Given the description of an element on the screen output the (x, y) to click on. 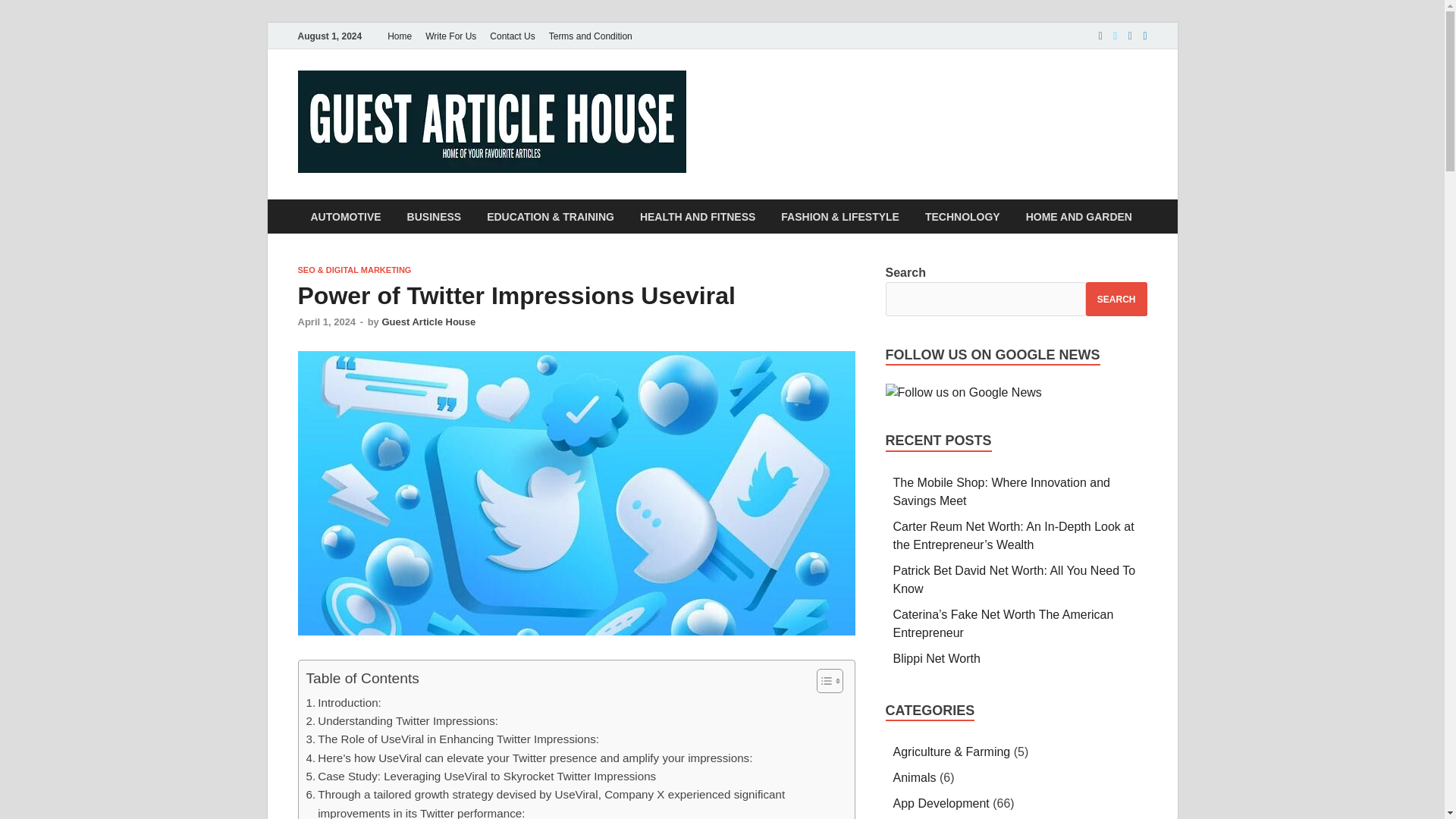
BUSINESS (434, 216)
The Role of UseViral in Enhancing Twitter Impressions: (452, 739)
Introduction: (343, 702)
Understanding Twitter Impressions: (401, 720)
TECHNOLOGY (962, 216)
HOME AND GARDEN (1078, 216)
The Role of UseViral in Enhancing Twitter Impressions: (452, 739)
Guest Article House (428, 321)
Introduction: (343, 702)
HEALTH AND FITNESS (697, 216)
Contact Us (512, 35)
Write For Us (451, 35)
